Given the description of an element on the screen output the (x, y) to click on. 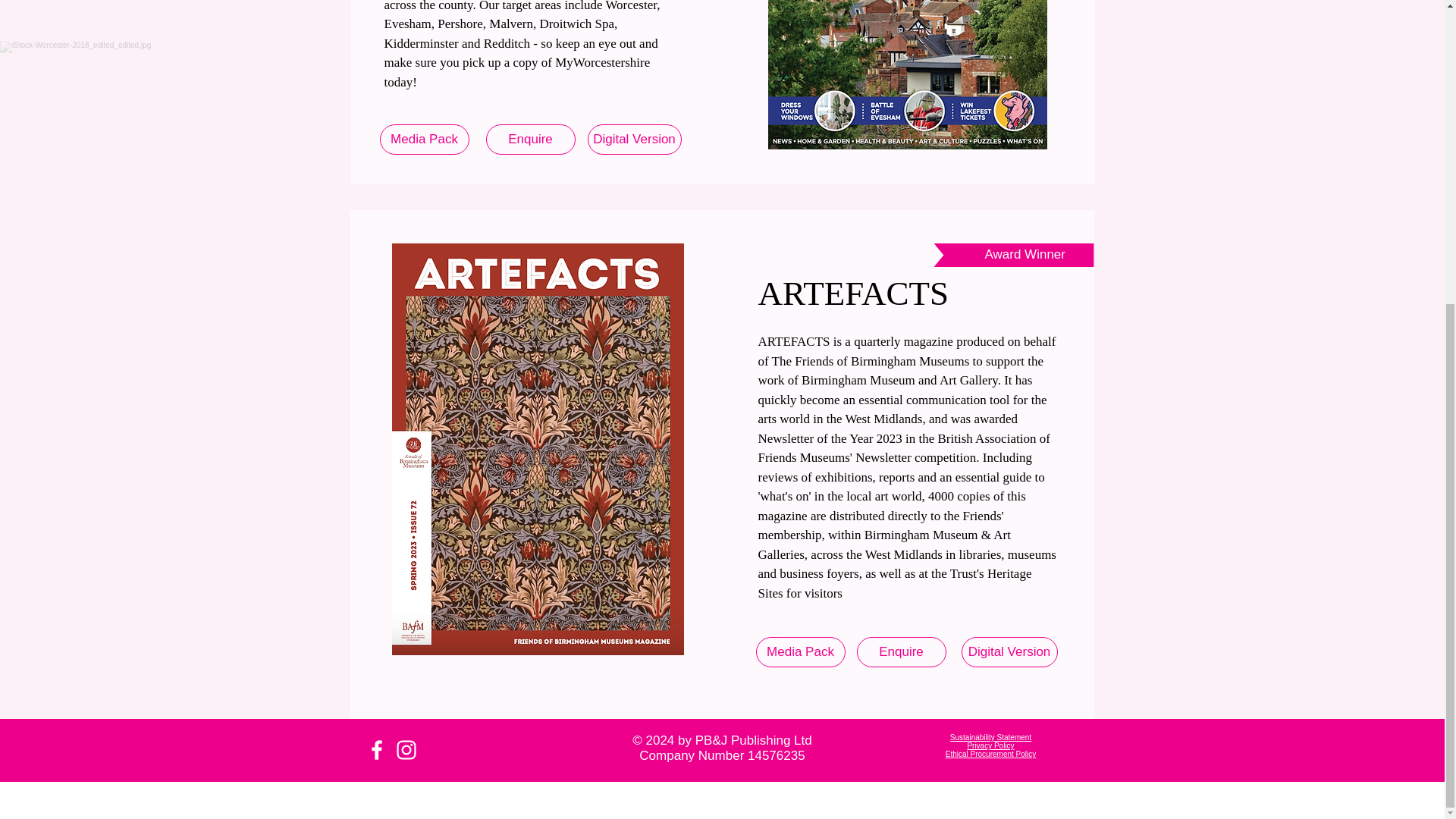
Sustainability Statement (990, 737)
Digital Version (633, 139)
Media Pack (799, 652)
Media Pack (423, 139)
Digital Version (1009, 652)
Enquire (529, 139)
Privacy Policy (989, 746)
Ethical Procurement Policy (990, 754)
Enquire (901, 652)
